Given the description of an element on the screen output the (x, y) to click on. 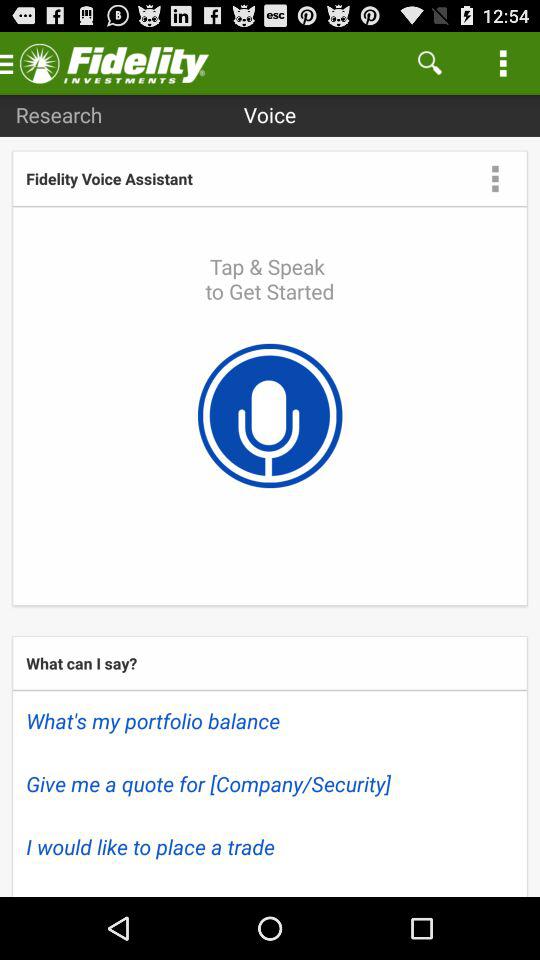
select item next to voice icon (58, 114)
